Given the description of an element on the screen output the (x, y) to click on. 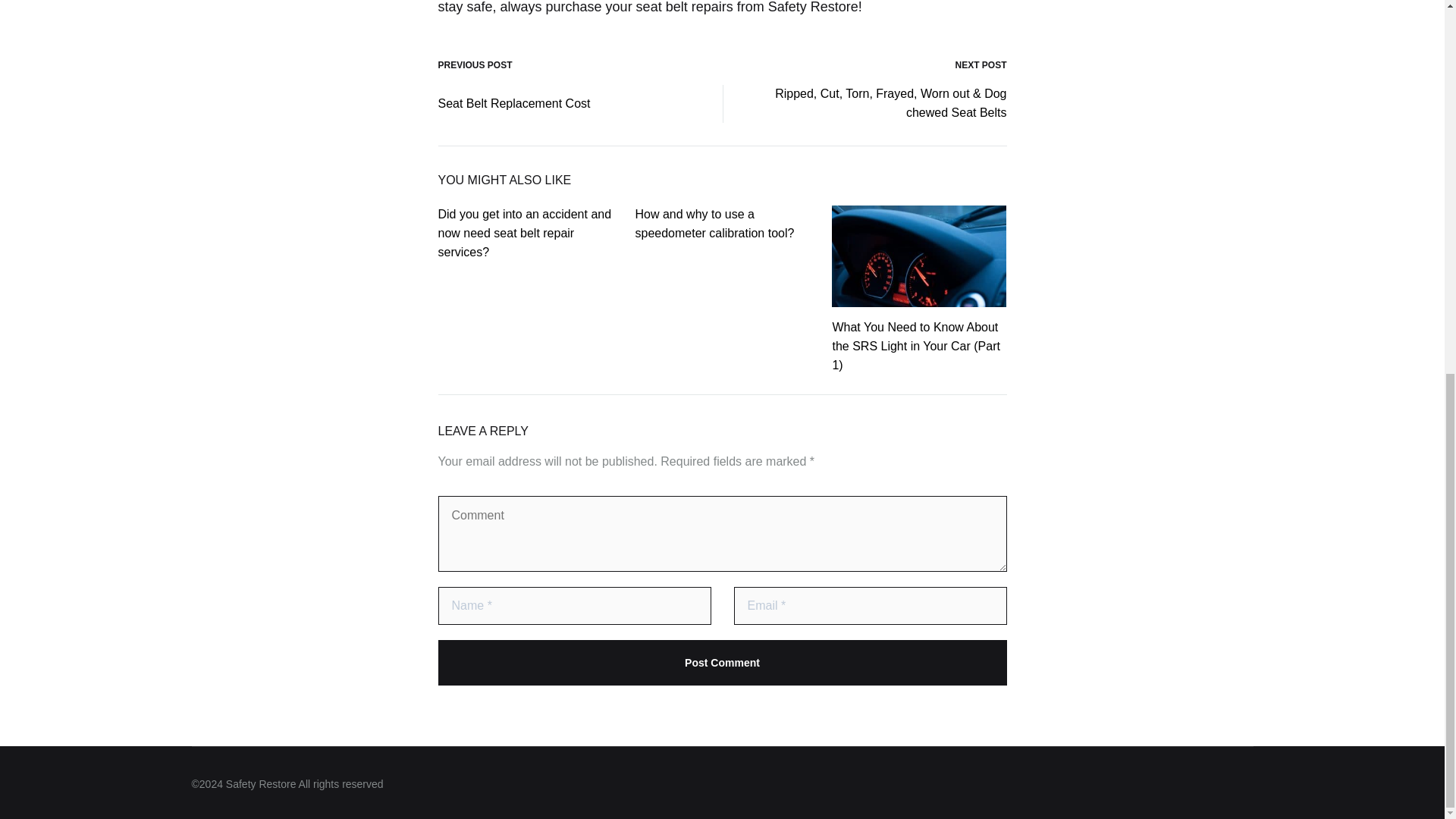
How and why to use a speedometer calibration tool? (713, 223)
Seat Belt Replacement Cost (514, 104)
Post Comment (722, 662)
Post Comment (722, 662)
